Given the description of an element on the screen output the (x, y) to click on. 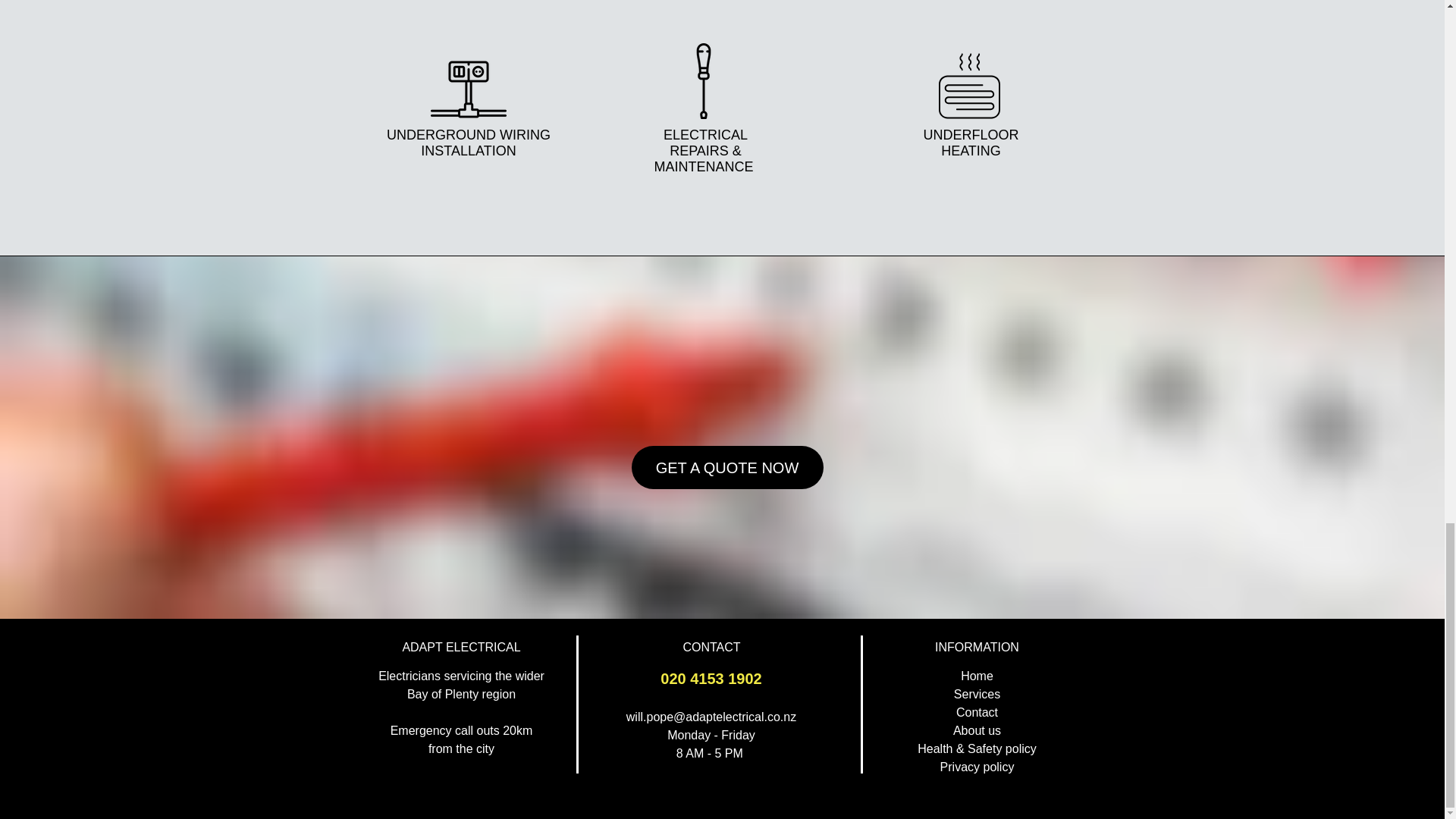
GET A QUOTE NOW (726, 466)
020 4153 1902 (711, 678)
Contact (976, 712)
Services (976, 694)
Privacy policy (977, 766)
About us (977, 730)
Home (976, 675)
